Given the description of an element on the screen output the (x, y) to click on. 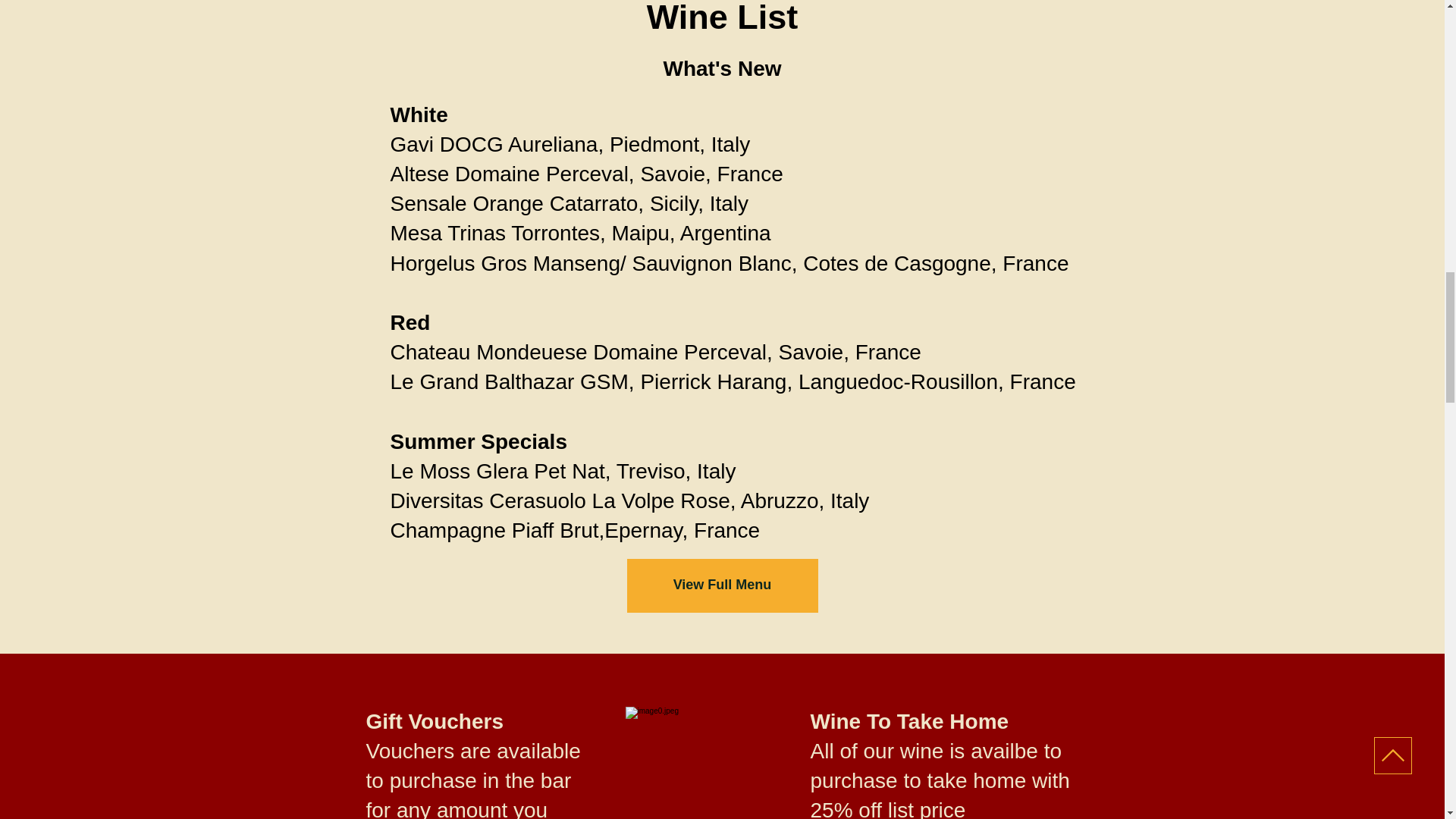
View Full Menu (721, 585)
